Given the description of an element on the screen output the (x, y) to click on. 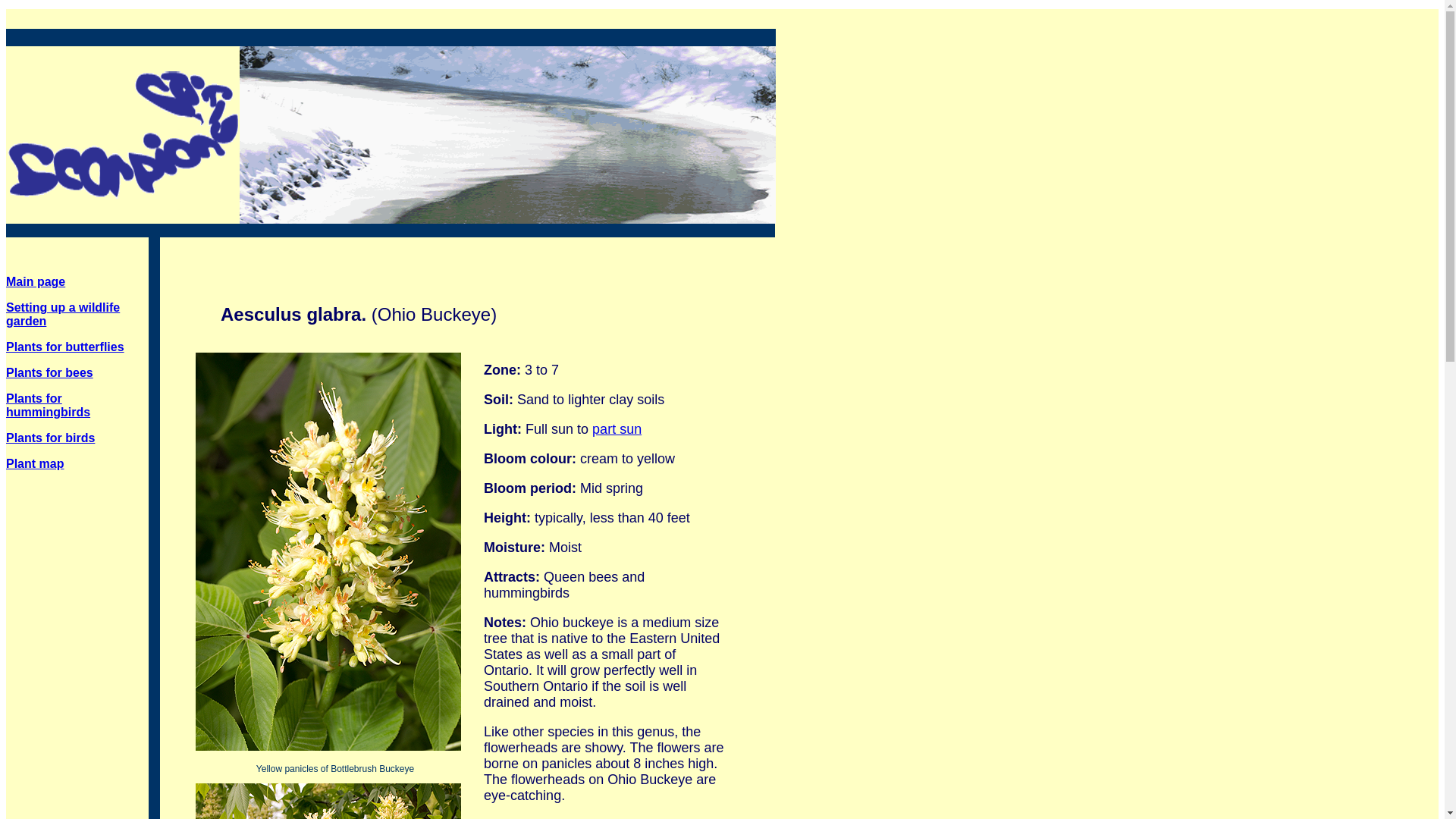
Plants for butterflies (64, 346)
part sun (617, 428)
Main page (35, 281)
Setting up a wildlife garden (62, 314)
Plant map (34, 463)
Plants for bees (49, 372)
Plants for birds (49, 437)
Plants for hummingbirds (47, 405)
